Given the description of an element on the screen output the (x, y) to click on. 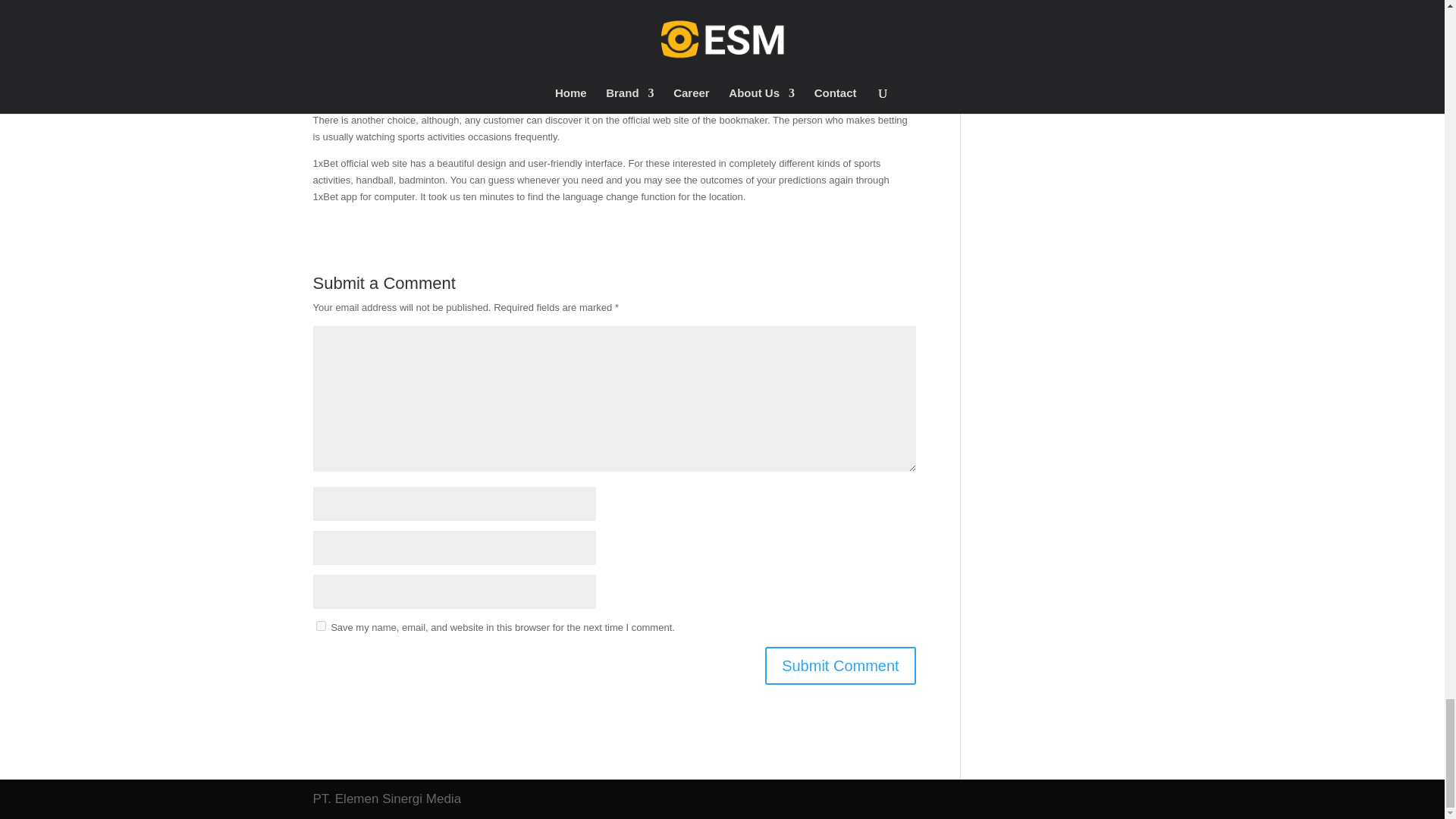
Submit Comment (840, 664)
Submit Comment (840, 664)
yes (319, 625)
